Given the description of an element on the screen output the (x, y) to click on. 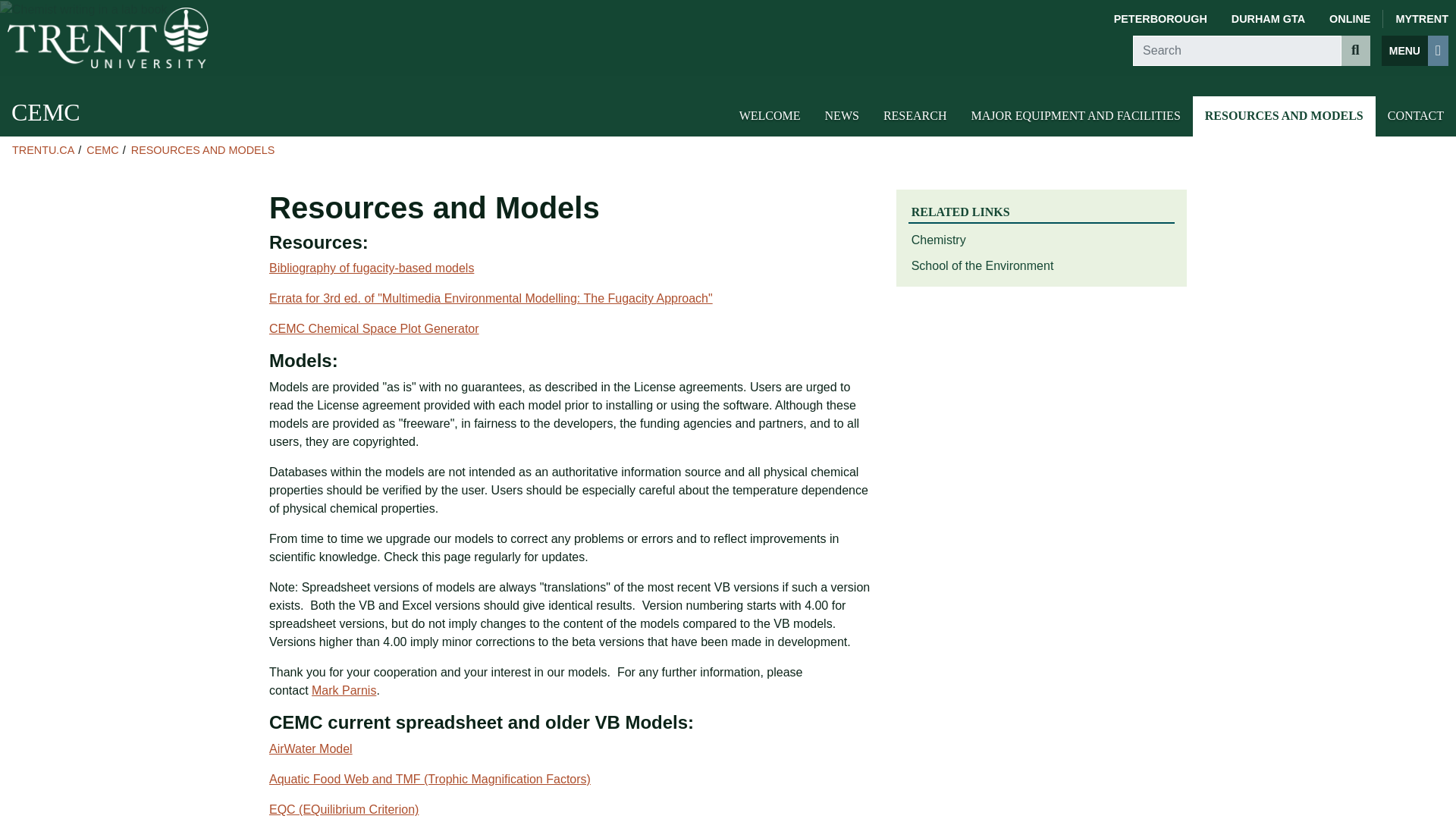
Home (107, 37)
Main Menu (1414, 51)
